Given the description of an element on the screen output the (x, y) to click on. 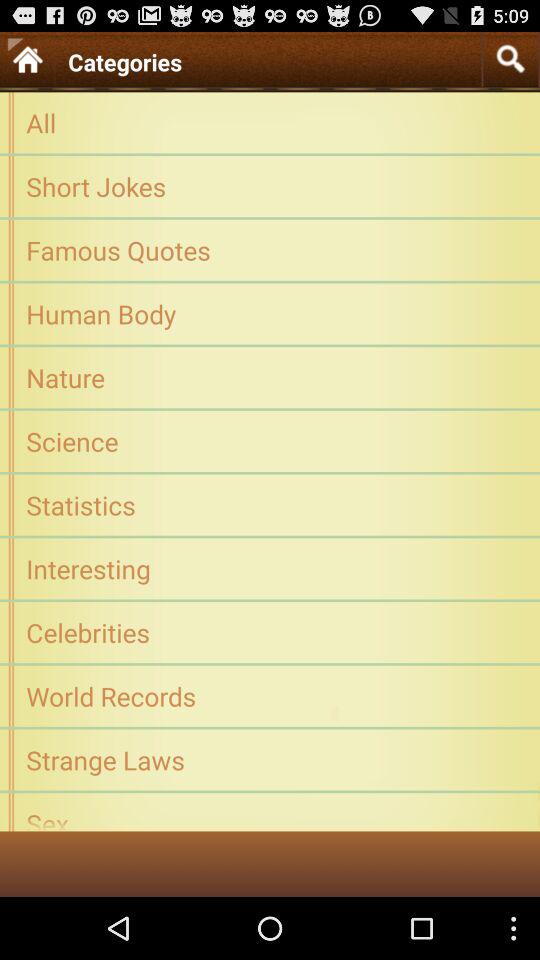
type categories for search (510, 58)
